Given the description of an element on the screen output the (x, y) to click on. 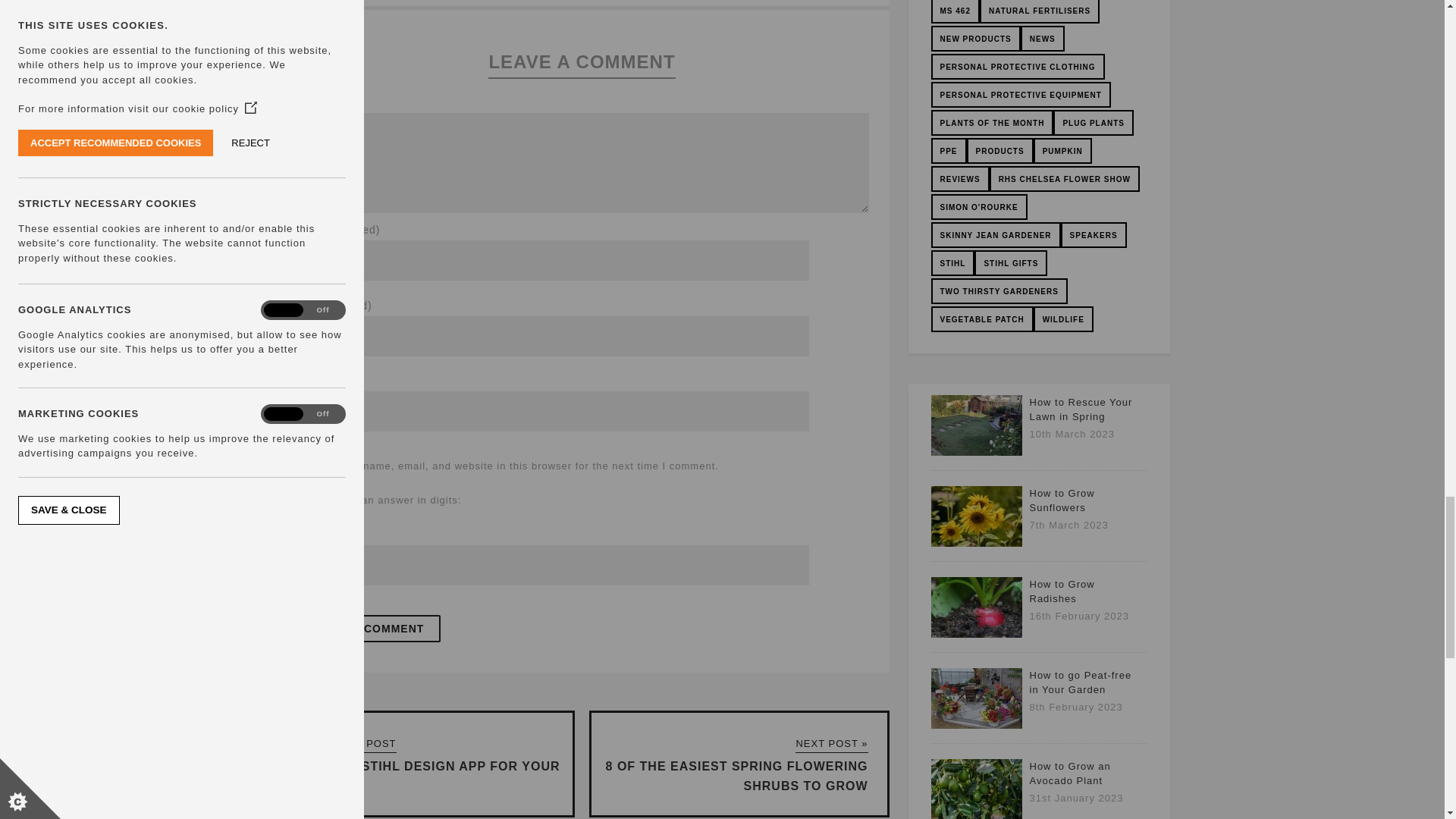
yes (299, 466)
Leave a Comment (367, 628)
